Given the description of an element on the screen output the (x, y) to click on. 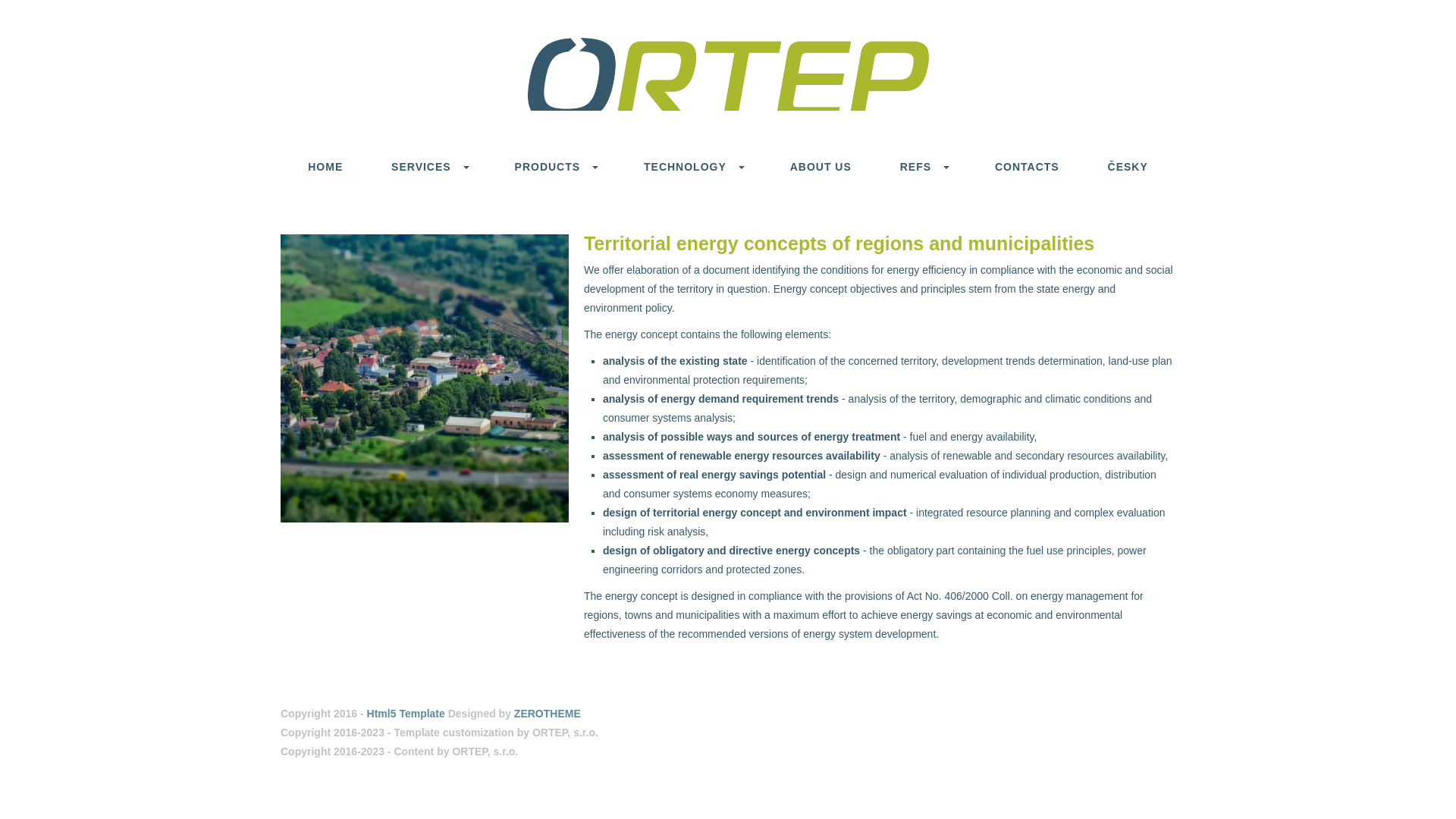
SERVICES (428, 166)
TECHNOLOGY (692, 166)
ABOUT US (820, 166)
REFS (922, 166)
PRODUCTS (555, 166)
HOME (325, 166)
CONTACTS (1026, 166)
Html5 Template (405, 713)
ZEROTHEME (546, 713)
